Given the description of an element on the screen output the (x, y) to click on. 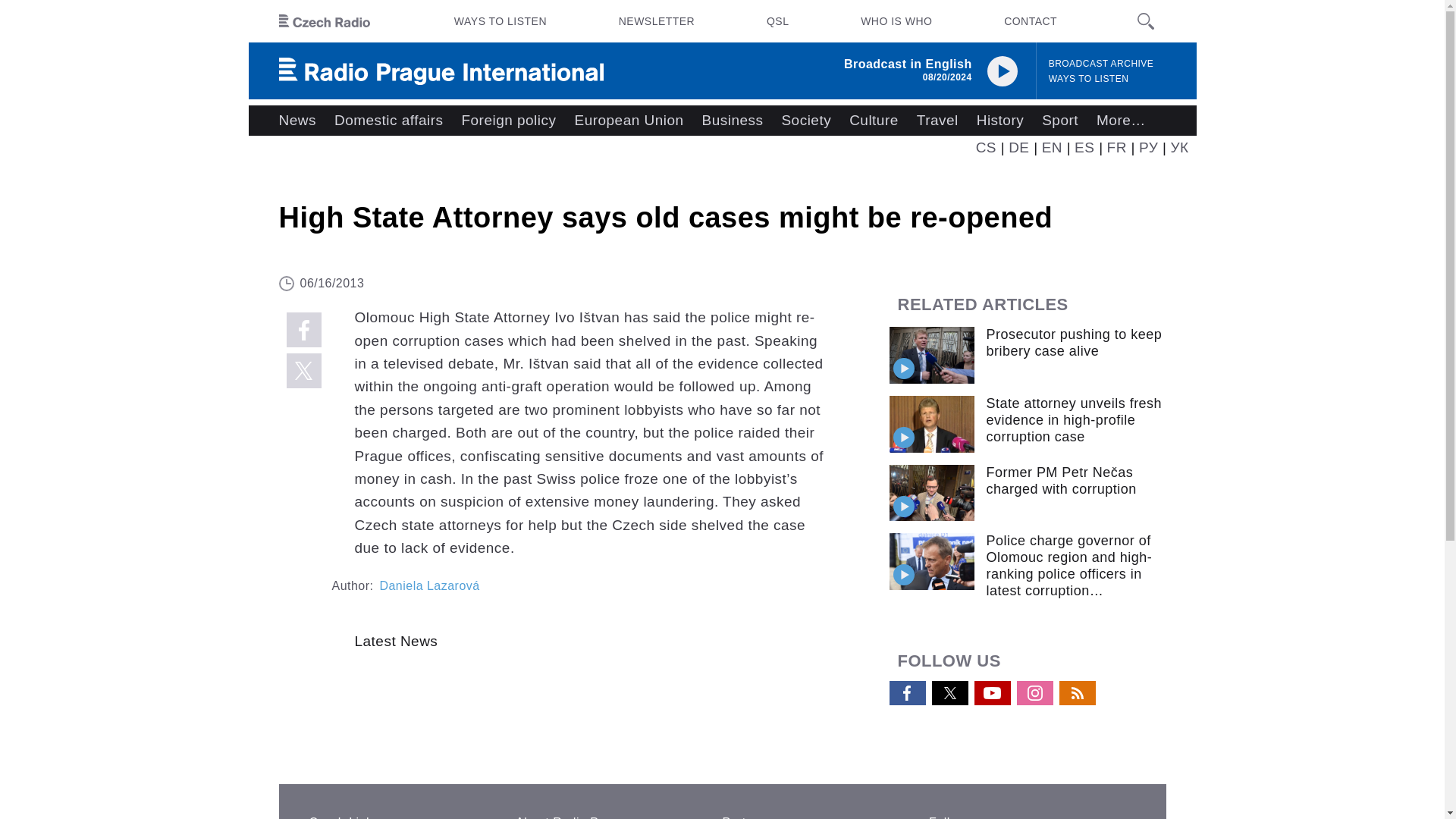
Sport (1059, 120)
Czech Radio (324, 21)
QSL (777, 21)
BROADCAST ARCHIVE (1101, 63)
WHO IS WHO (896, 21)
CONTACT (1029, 21)
History (1000, 120)
Society (805, 120)
Business (733, 120)
Domestic affairs (388, 120)
